Given the description of an element on the screen output the (x, y) to click on. 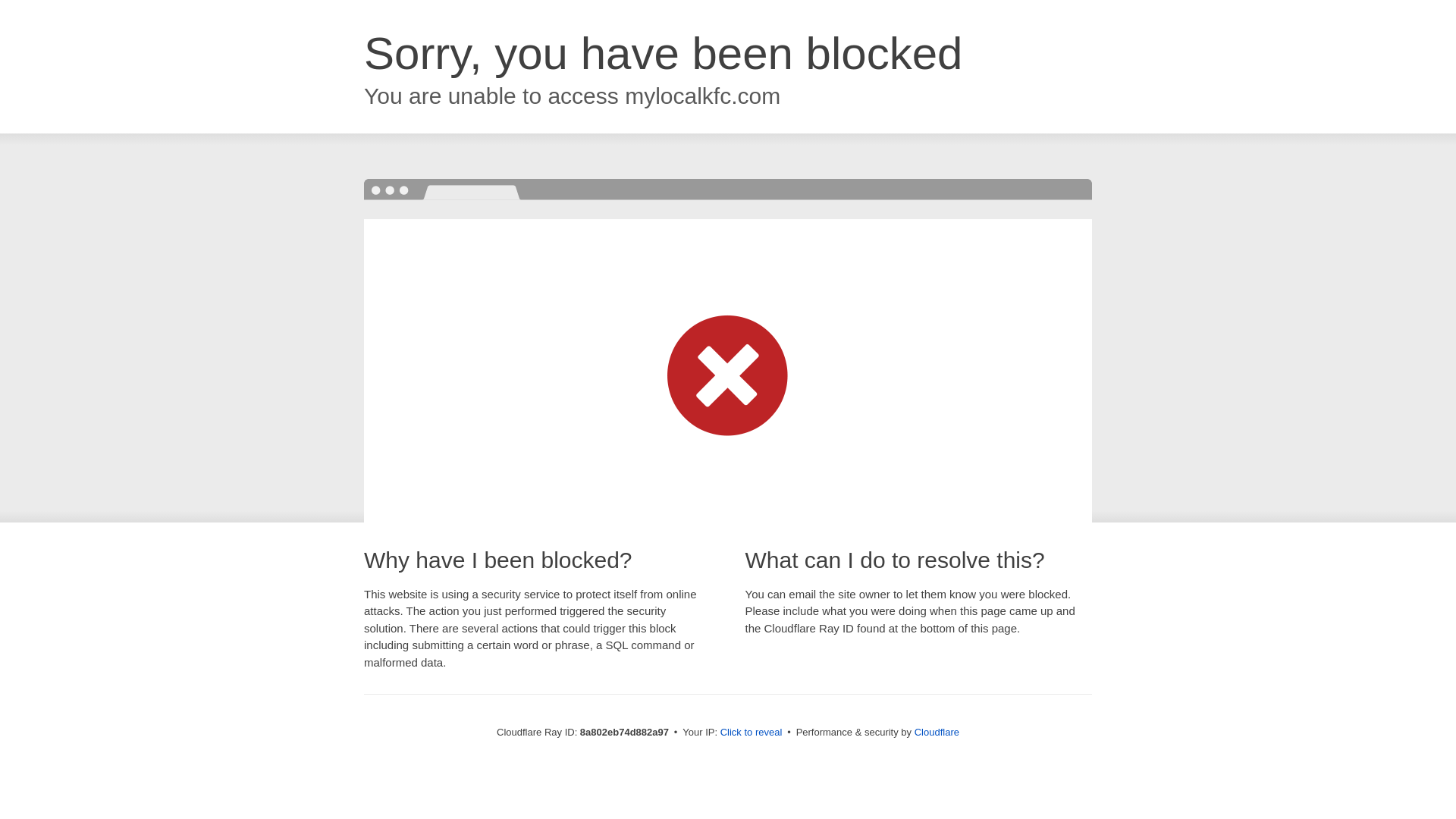
Cloudflare (936, 731)
Click to reveal (751, 732)
